Given the description of an element on the screen output the (x, y) to click on. 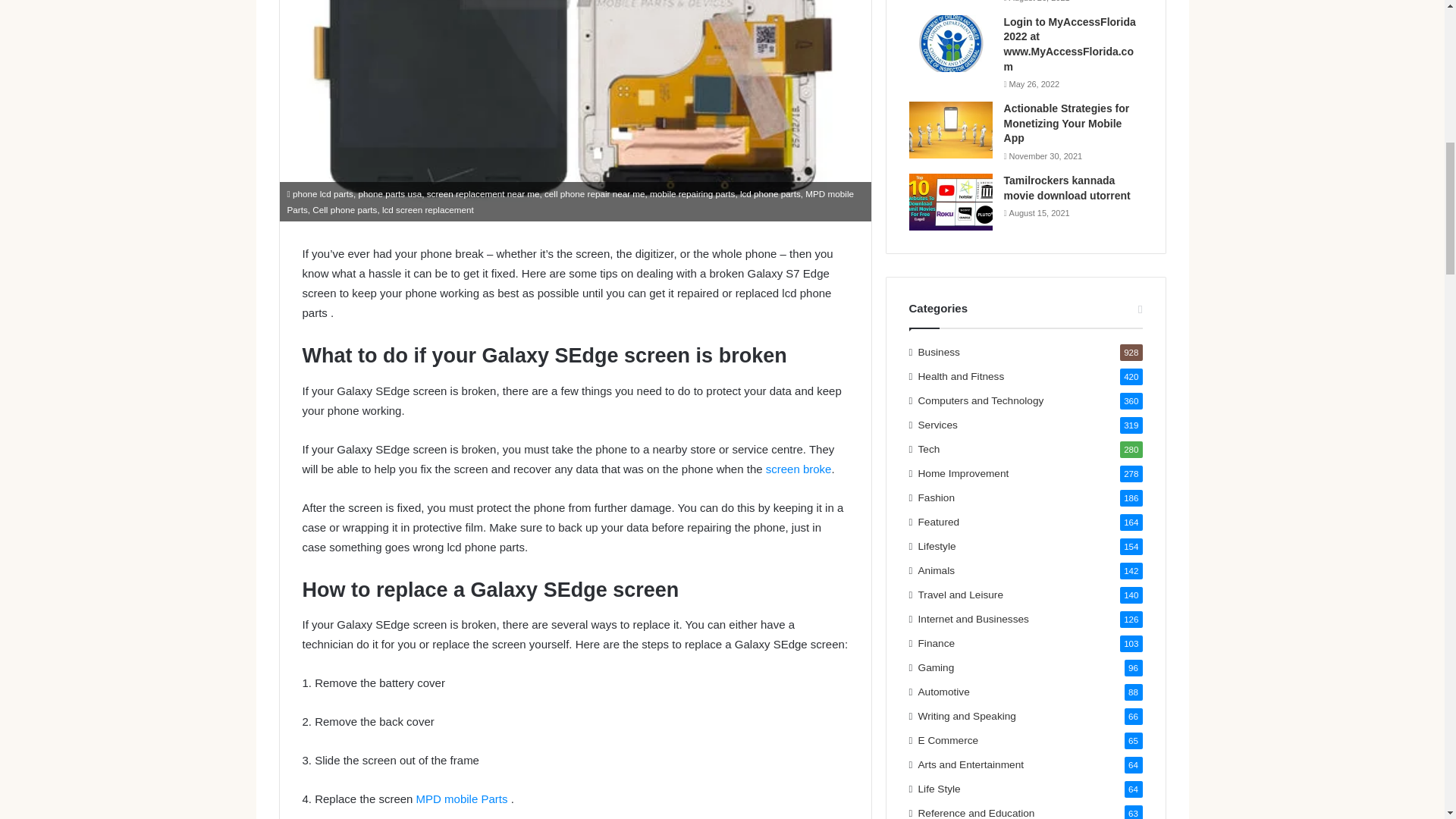
MPD mobile Parts (462, 798)
screen broke (798, 468)
